Given the description of an element on the screen output the (x, y) to click on. 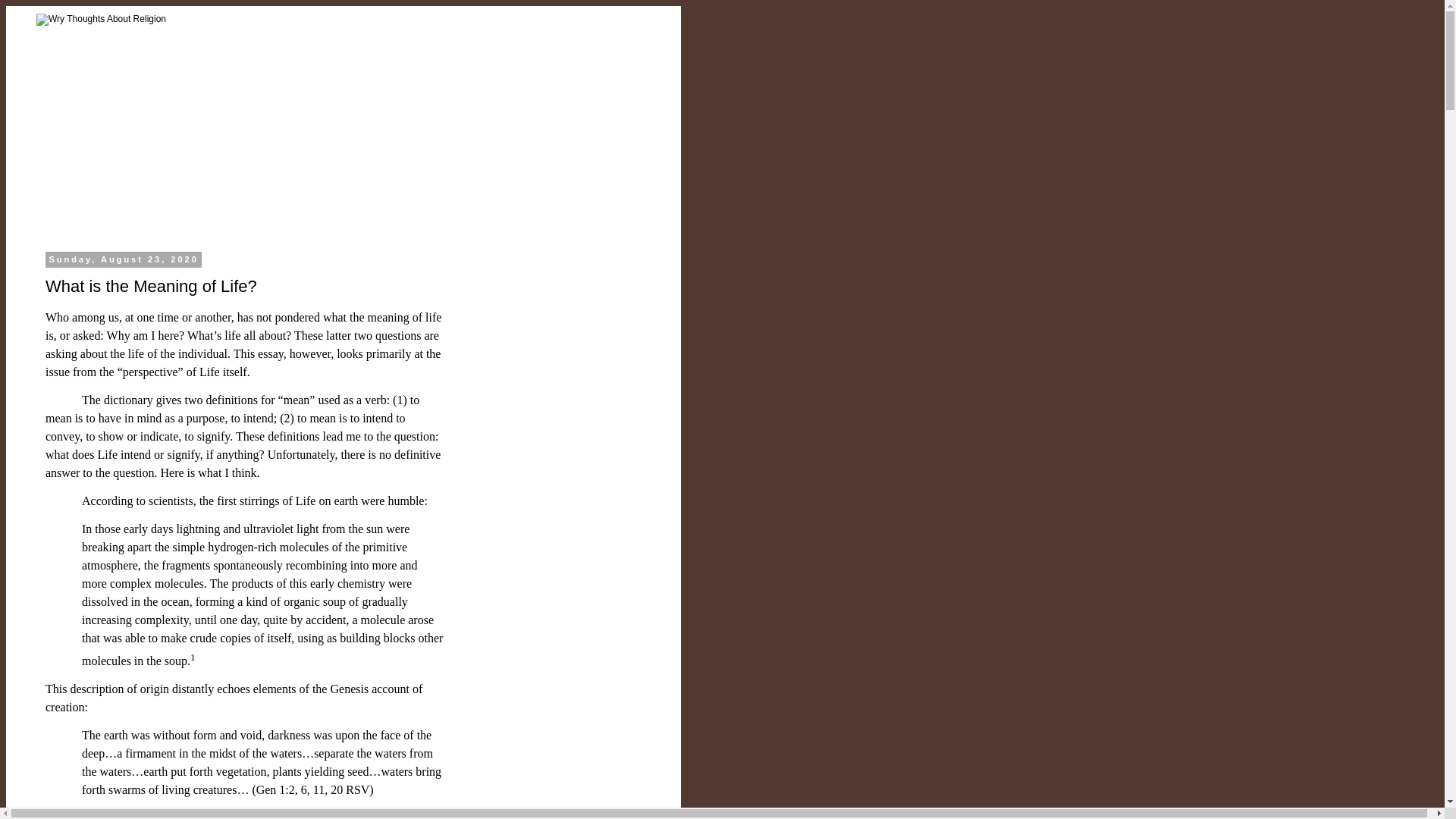
What is the Meaning of Life? (151, 285)
